Given the description of an element on the screen output the (x, y) to click on. 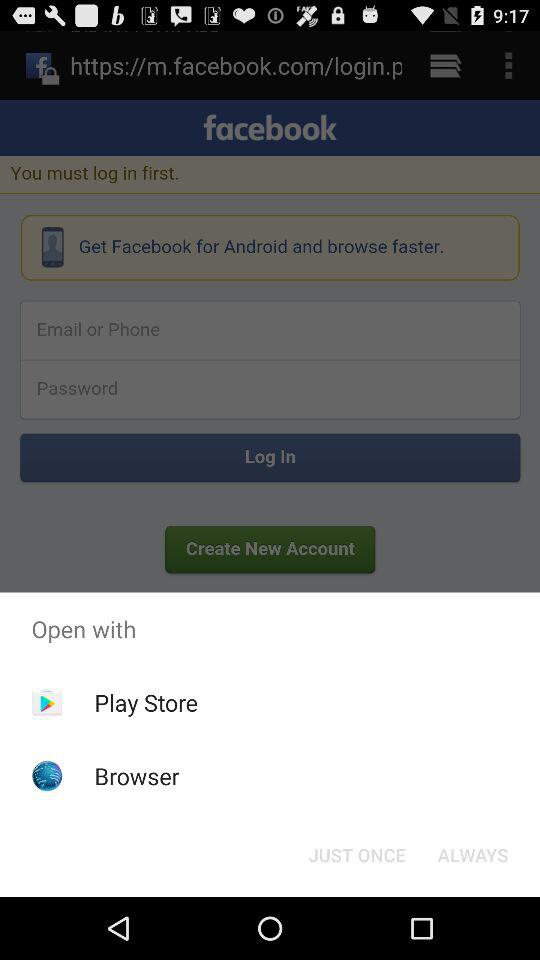
tap the icon below play store app (136, 775)
